Given the description of an element on the screen output the (x, y) to click on. 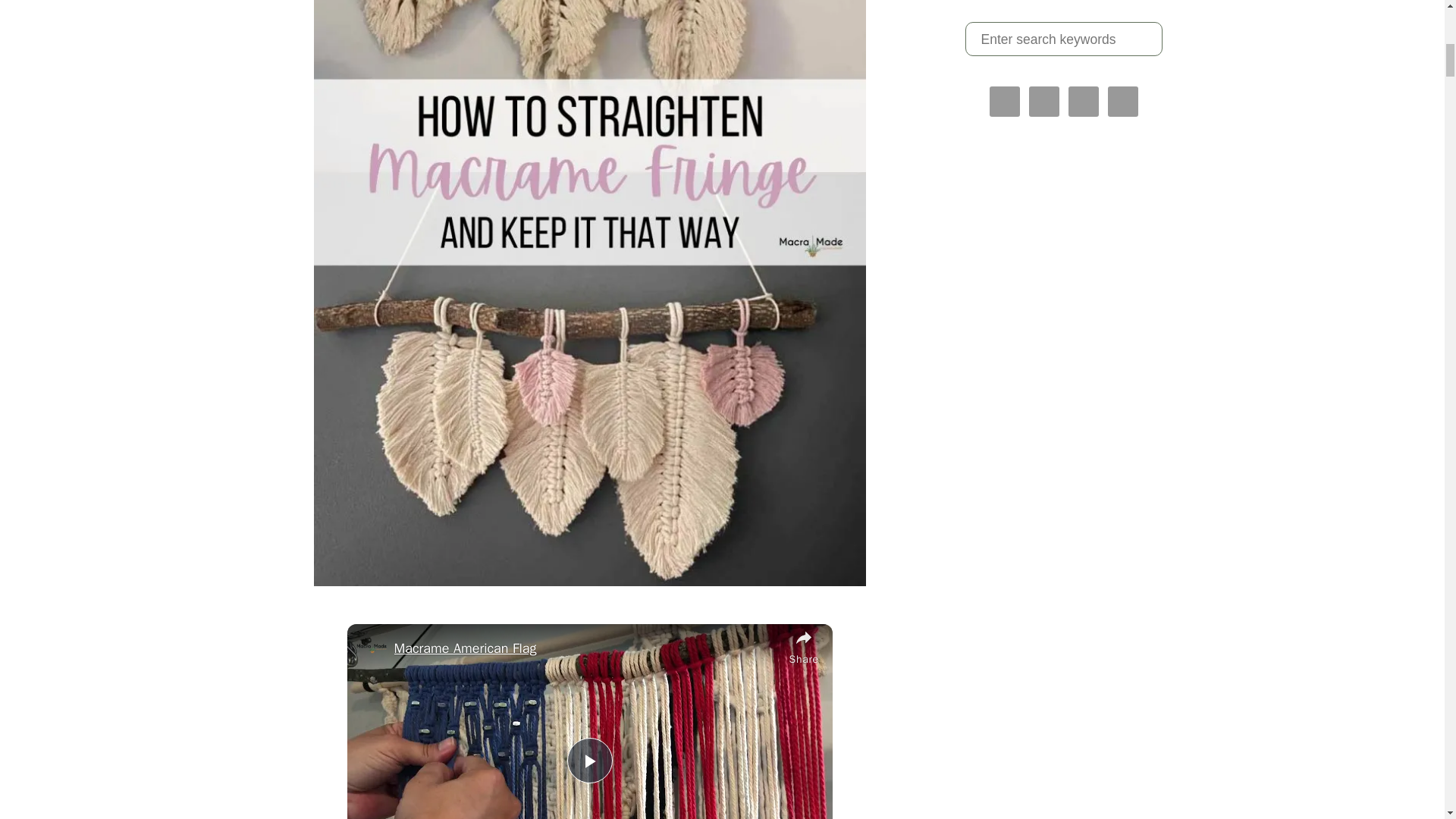
Play Video (589, 759)
Macrame American Flag (586, 648)
Play Video (589, 759)
Search for: (1062, 39)
